Given the description of an element on the screen output the (x, y) to click on. 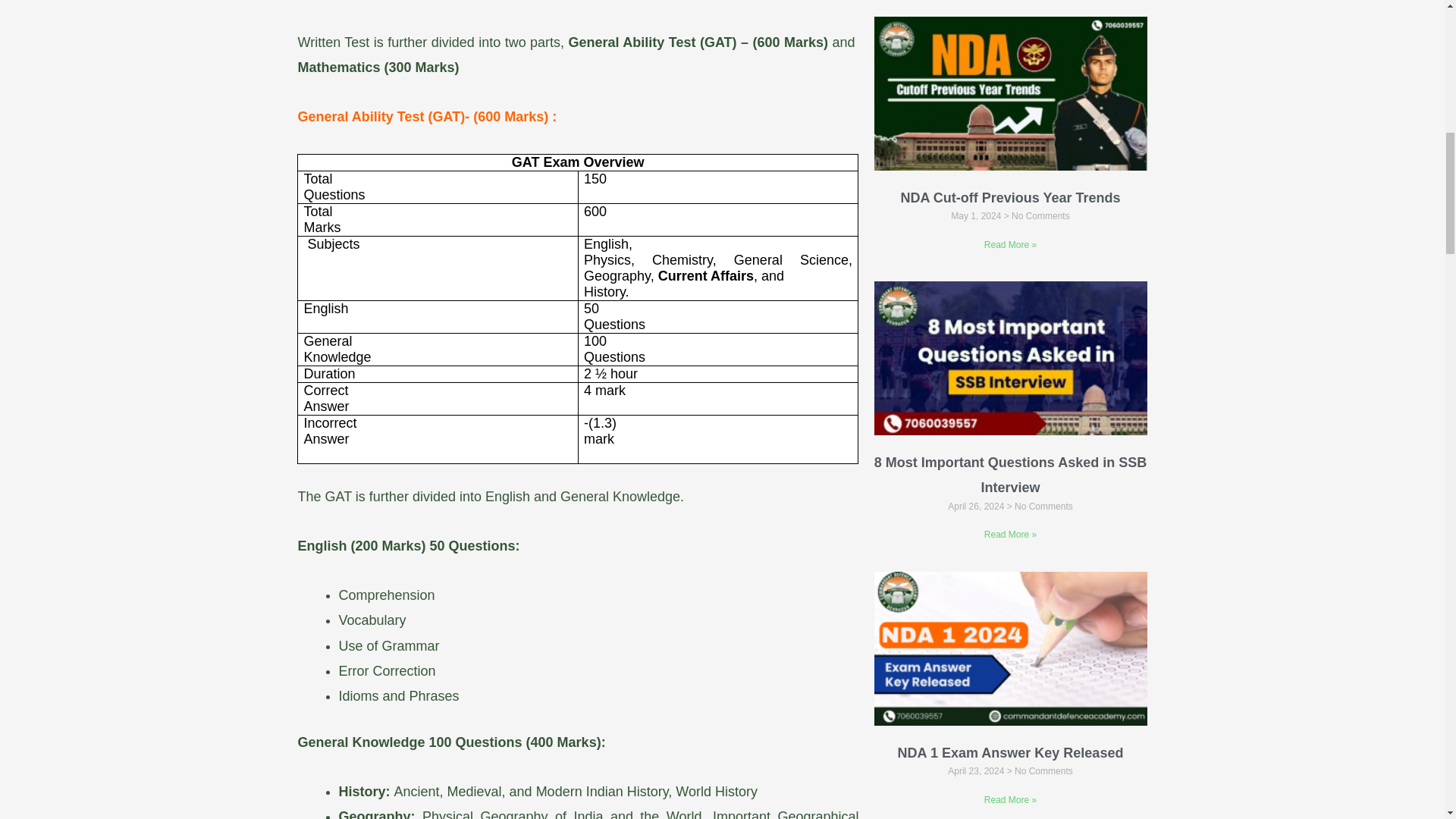
Bulletproof Study Plan for NDA Exam Success 4 (1010, 648)
Bulletproof Study Plan for NDA Exam Success 3 (1010, 357)
Bulletproof Study Plan for NDA Exam Success 2 (1010, 93)
